Given the description of an element on the screen output the (x, y) to click on. 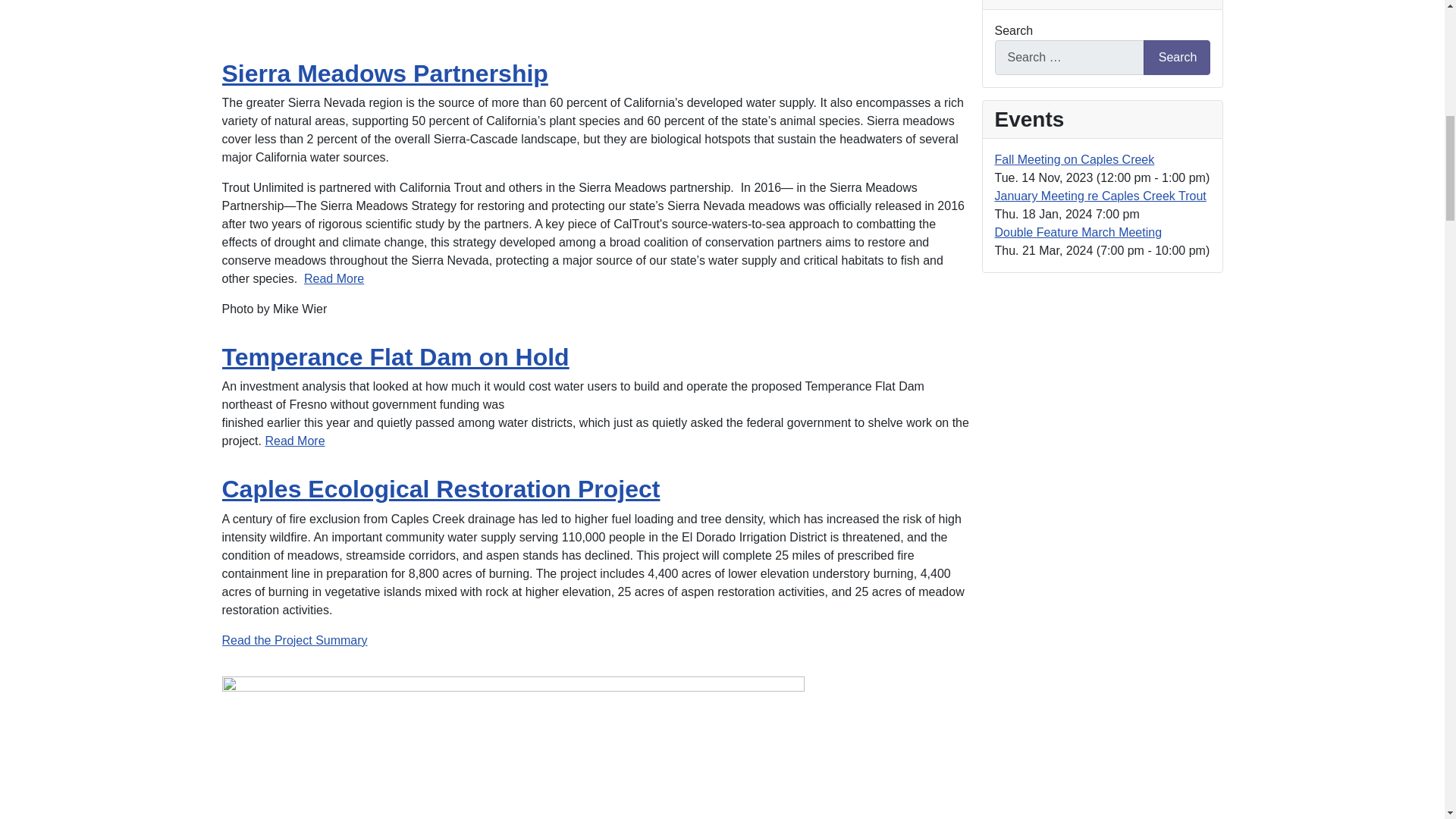
Read More (334, 278)
January Meeting re Caples Creek Trout (1100, 195)
Caples Ecological Restoration Project (440, 488)
Sierra Meadows Partnership (384, 72)
Fall Meeting on Caples Creek (1074, 159)
Read More (294, 440)
Double Feature March Meeting (1077, 232)
Read the Project Summary (293, 640)
Temperance Flat Dam on Hold (395, 357)
